Given the description of an element on the screen output the (x, y) to click on. 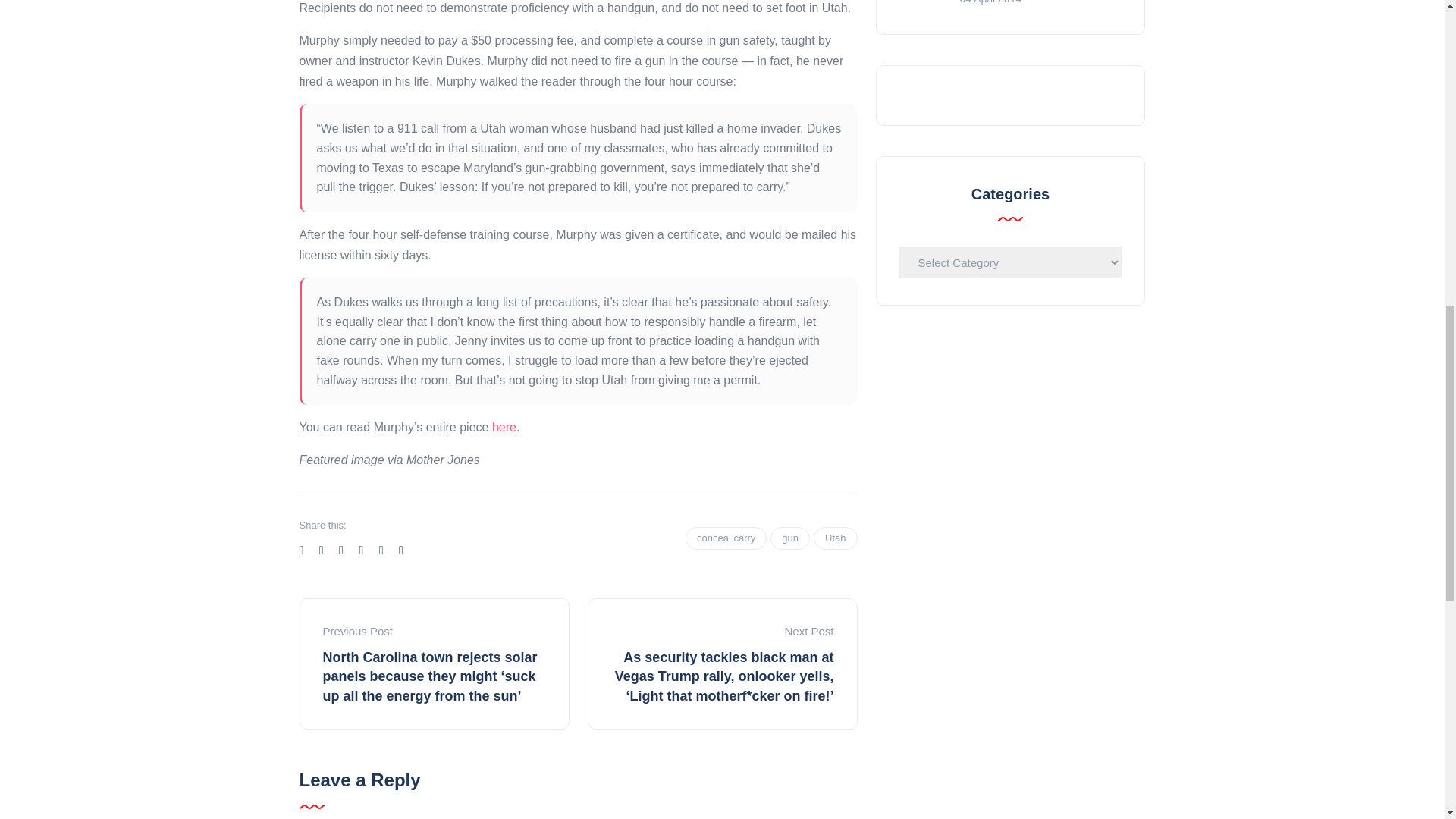
gun (789, 538)
here (504, 427)
Utah (835, 538)
conceal carry (726, 538)
